Given the description of an element on the screen output the (x, y) to click on. 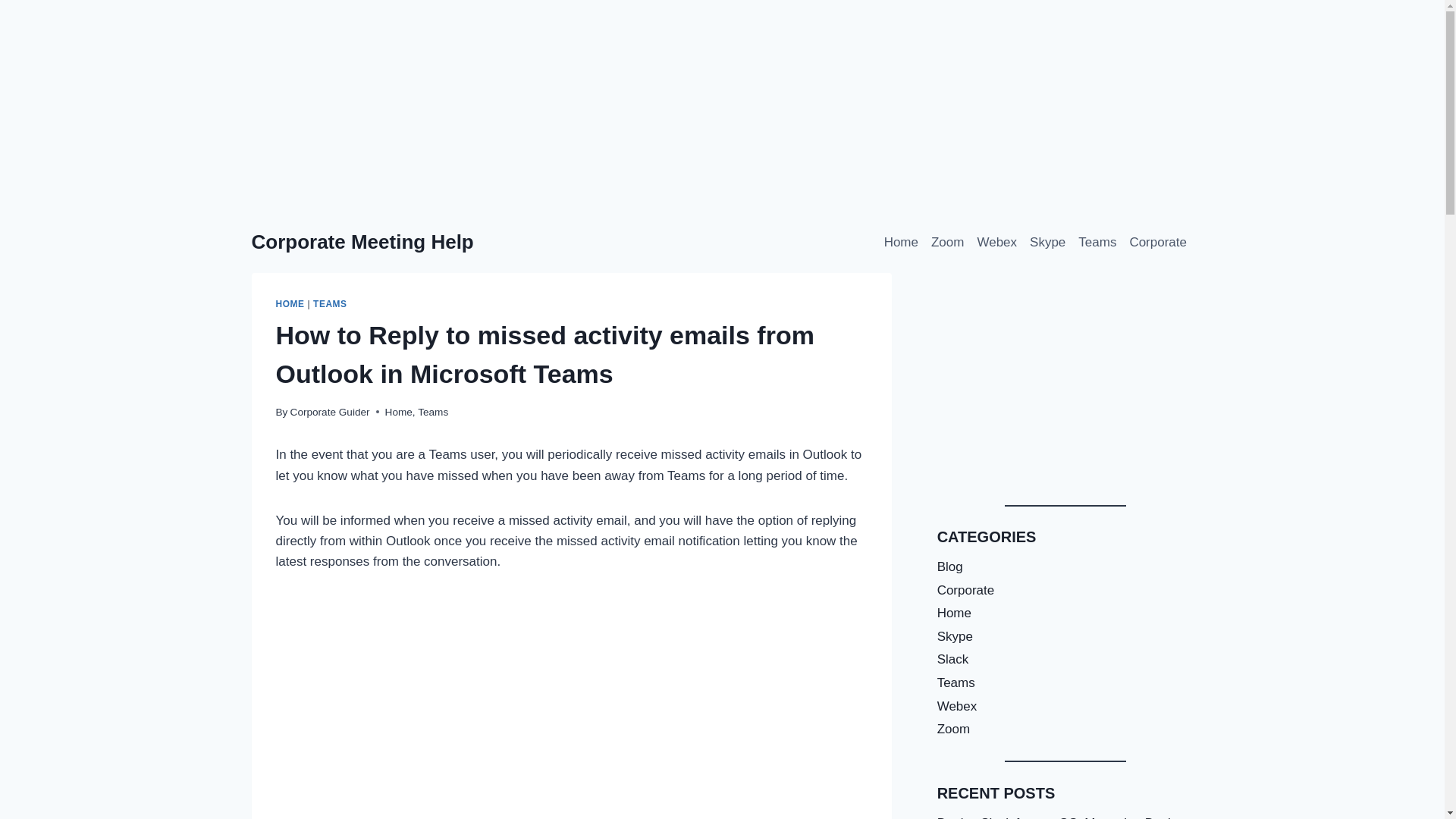
HOME (290, 303)
Advertisement (571, 702)
Zoom (946, 242)
Advertisement (1065, 378)
TEAMS (330, 303)
Corporate (1157, 242)
Home (398, 411)
Skype (1047, 242)
Home (900, 242)
Teams (1096, 242)
Corporate Meeting Help (362, 241)
Teams (432, 411)
Corporate Guider (329, 411)
Webex (997, 242)
